Given the description of an element on the screen output the (x, y) to click on. 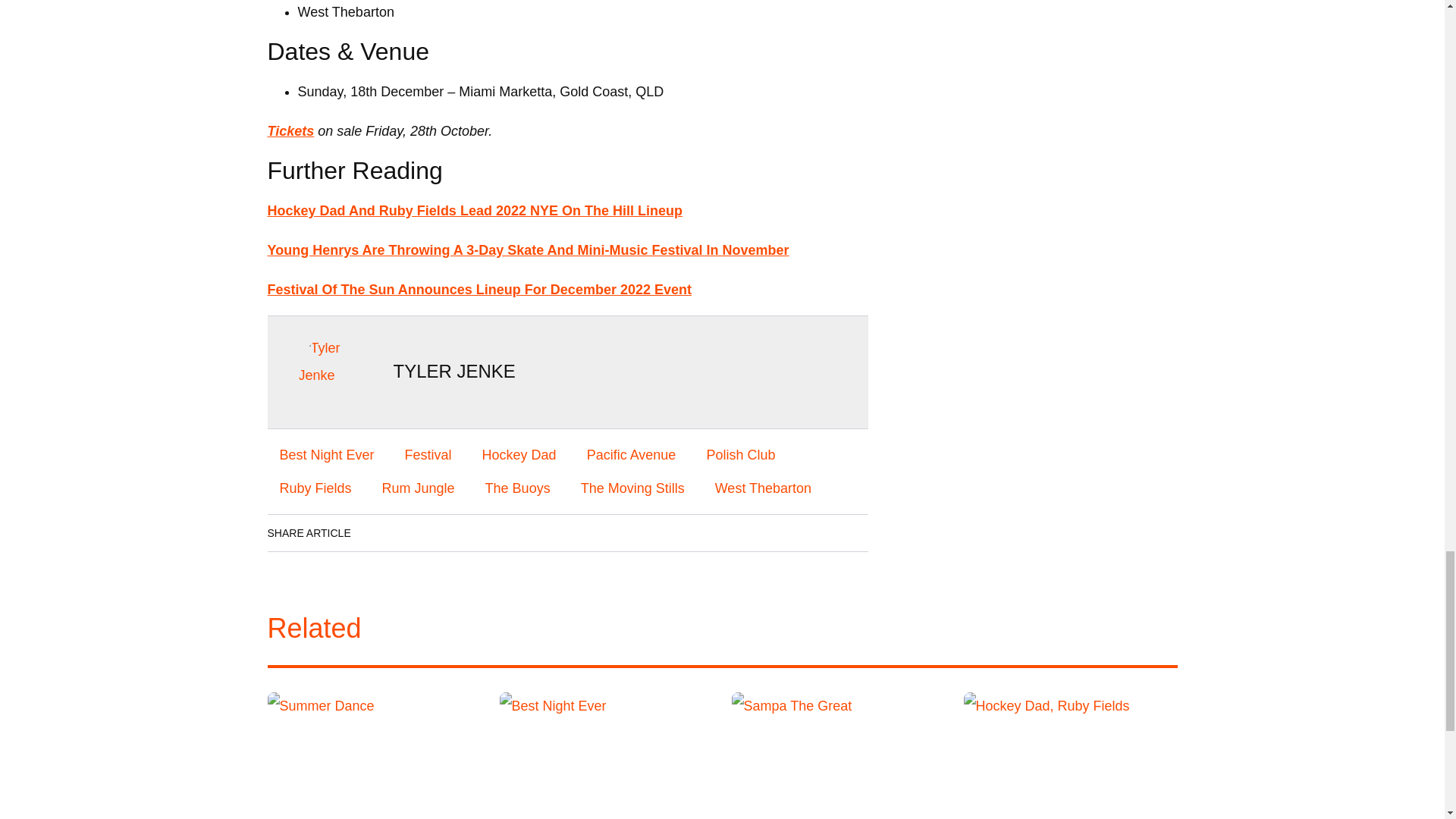
Festival Of The Sun Announces Lineup For December 2022 Event (478, 289)
Hockey Dad And Ruby Fields Lead 2022 NYE On The Hill Lineup (473, 210)
